Given the description of an element on the screen output the (x, y) to click on. 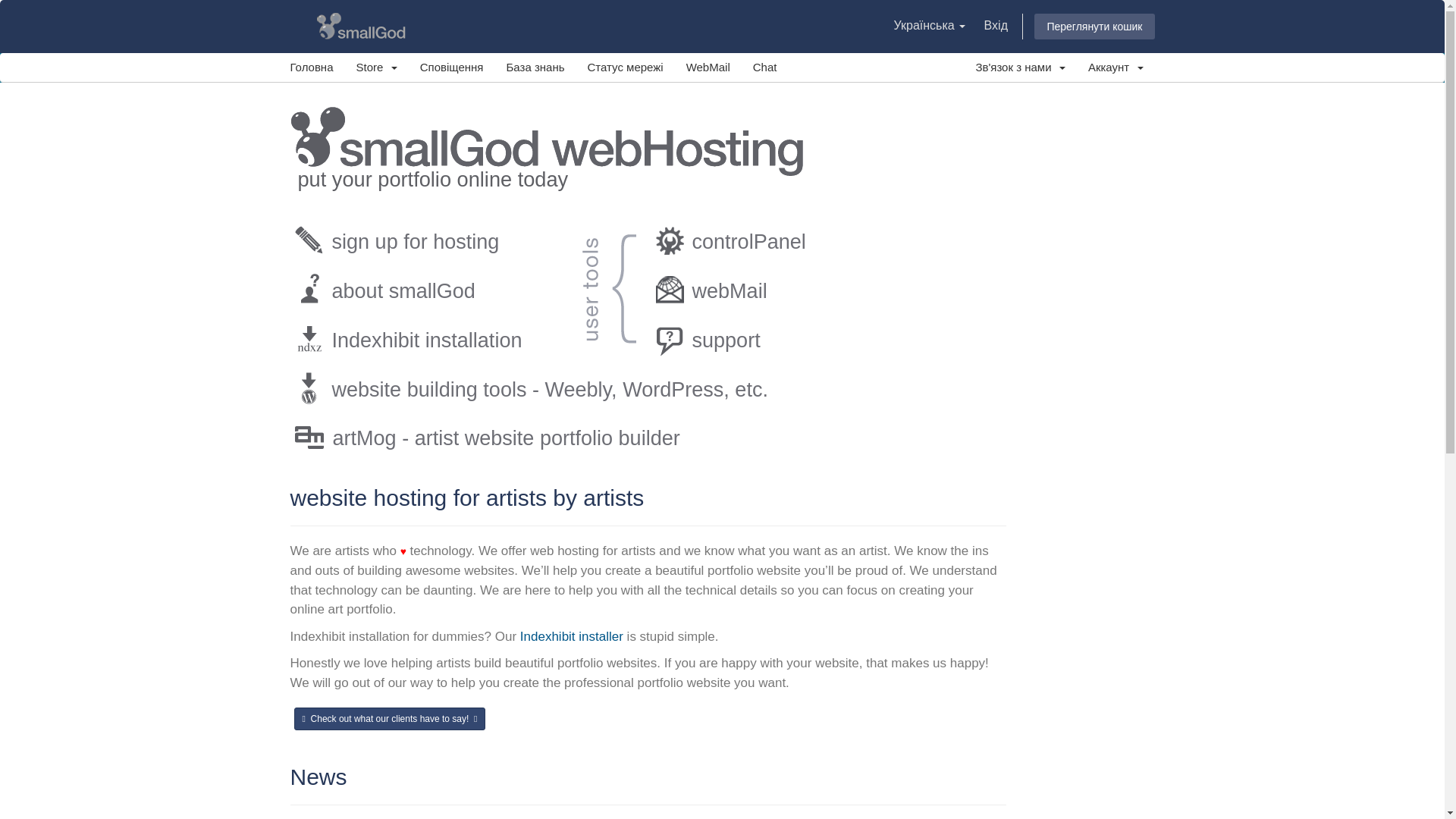
Join us now! (421, 240)
Beautiful portfolio site - no pain. (537, 436)
Store   (375, 67)
Install Indexhibit in one minute!  (421, 338)
Install web apps in a couple clicks. (536, 388)
Install Indexhibit in one minute! (571, 636)
We are here for you. (782, 338)
